Given the description of an element on the screen output the (x, y) to click on. 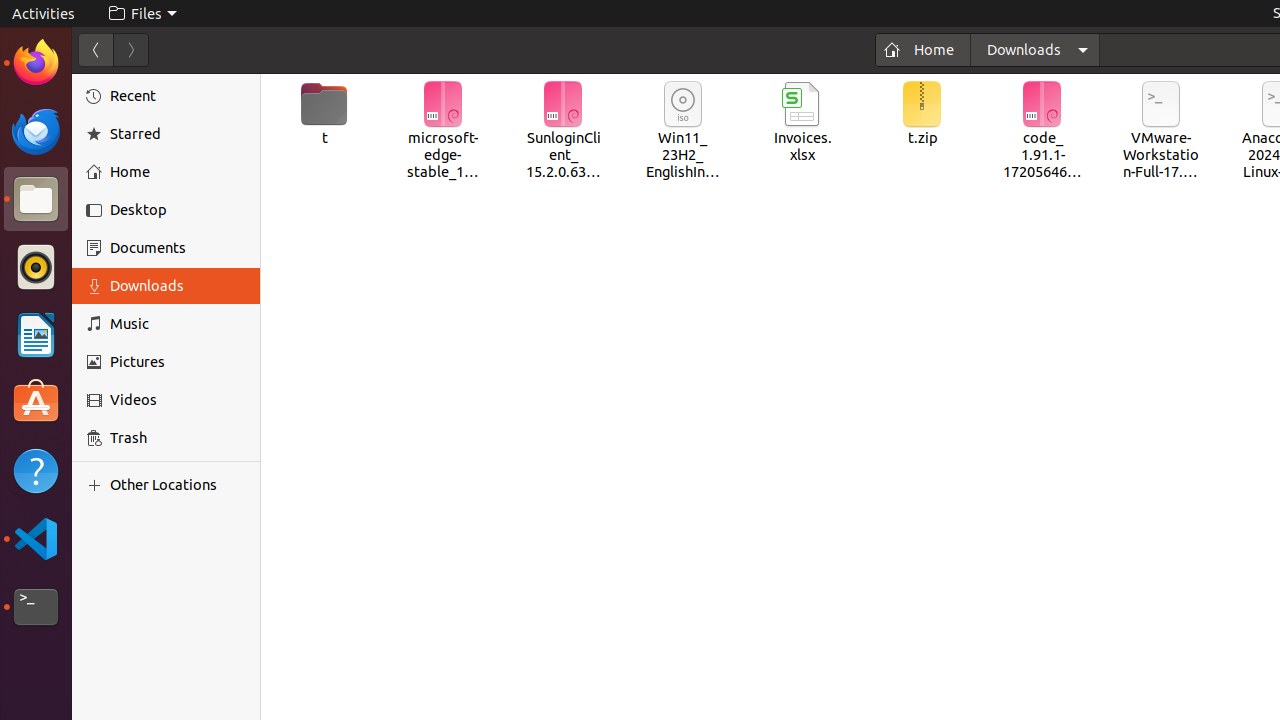
Add Element type: icon (98, 485)
